Given the description of an element on the screen output the (x, y) to click on. 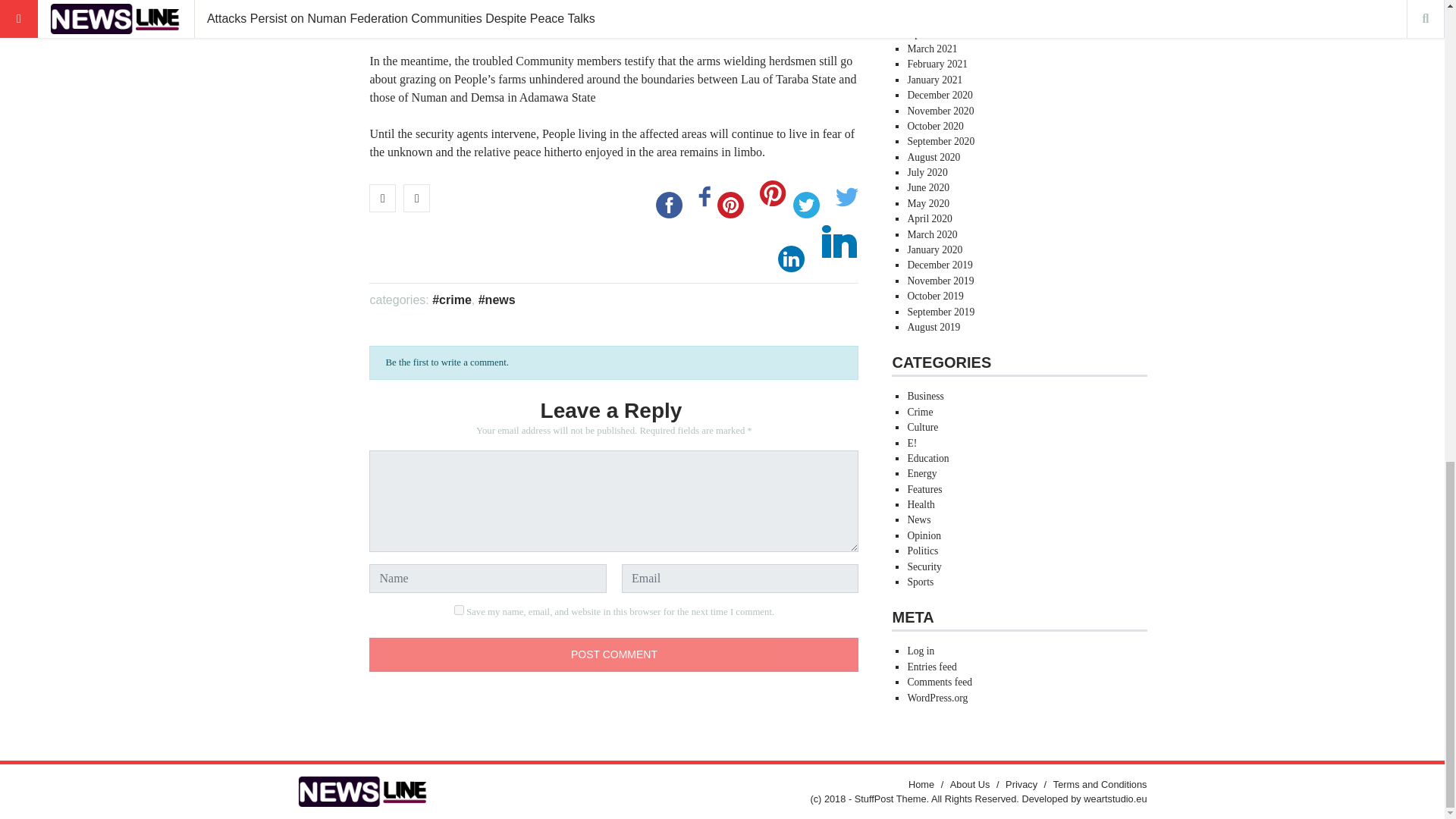
pinterest (730, 204)
Post Comment (614, 654)
crime (451, 299)
twitter (806, 204)
Post Comment (614, 654)
news (497, 299)
linkedin (791, 258)
yes (459, 610)
facebook (668, 204)
